Given the description of an element on the screen output the (x, y) to click on. 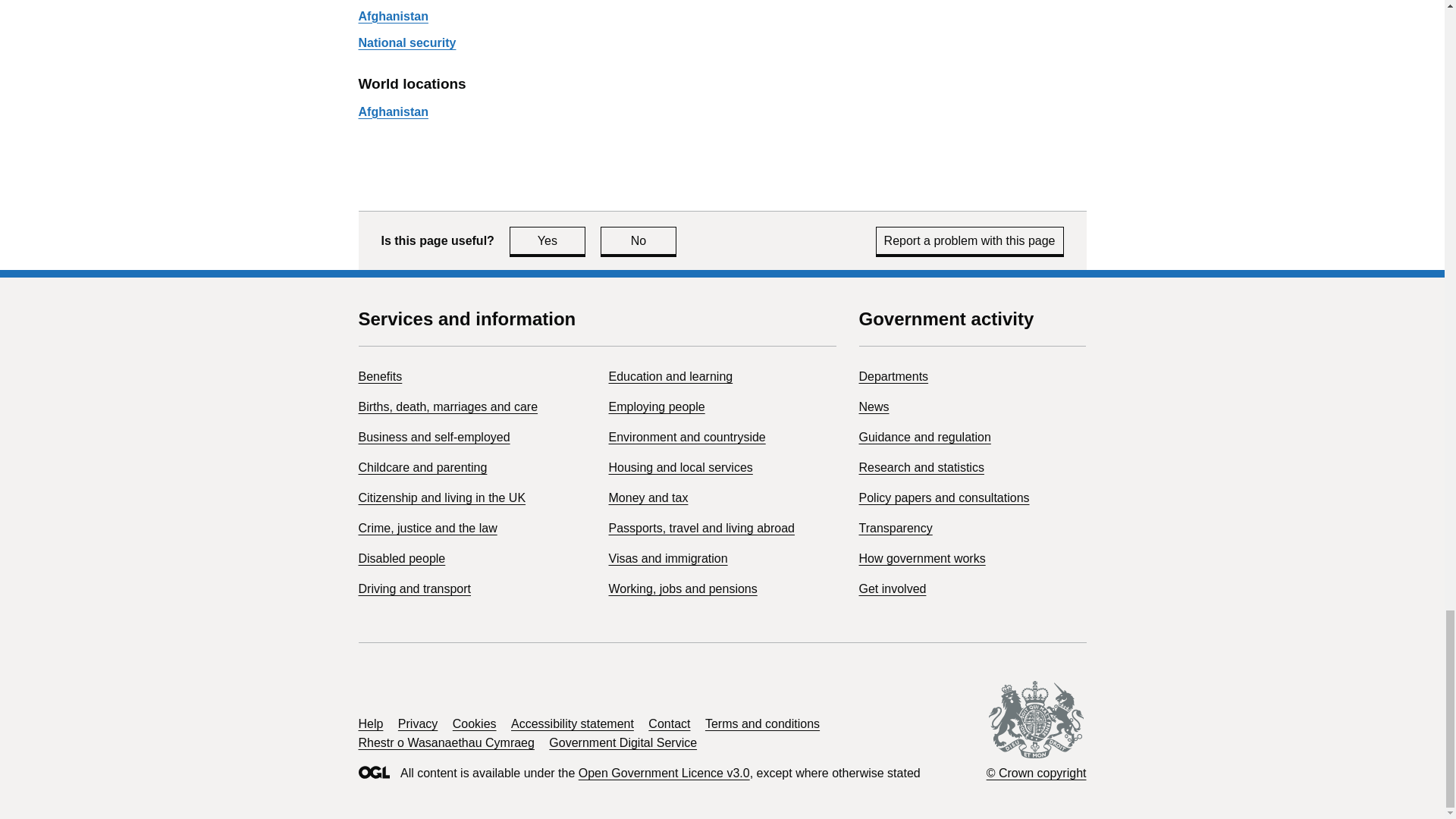
Education and learning (670, 376)
Citizenship and living in the UK (547, 240)
Driving and transport (441, 497)
Guidance and regulation (414, 588)
Departments (924, 436)
News (893, 376)
Working, jobs and pensions (873, 406)
Passports, travel and living abroad (682, 588)
Visas and immigration (700, 527)
Crime, justice and the law (667, 558)
Report a problem with this page (427, 527)
National security (970, 240)
Housing and local services (406, 42)
